Given the description of an element on the screen output the (x, y) to click on. 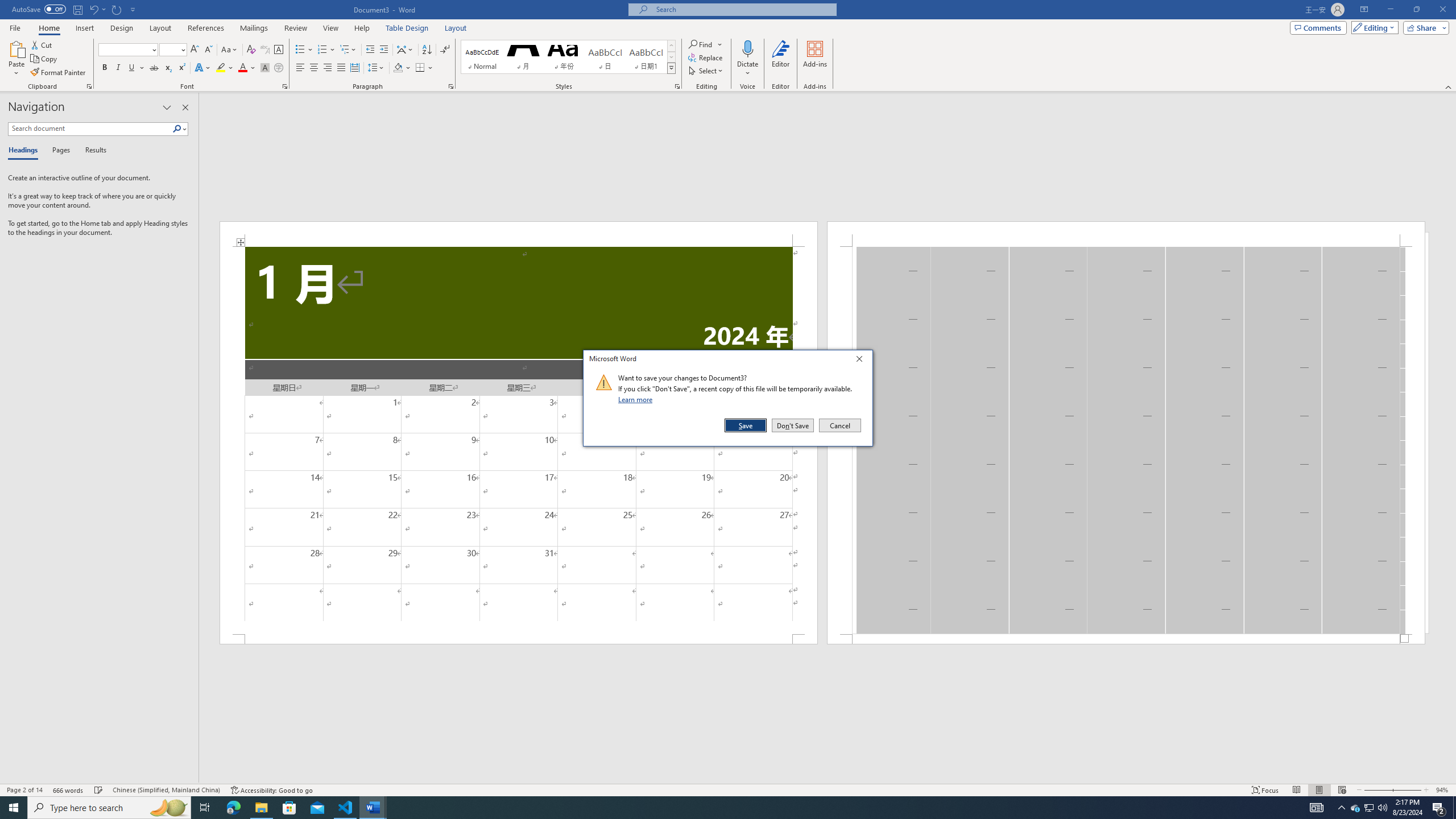
Enclose Characters... (278, 67)
Task View (204, 807)
Visual Studio Code - 1 running window (345, 807)
Copy (45, 58)
Undo Distribute Para (96, 9)
Center (313, 67)
Table Design (407, 28)
Text Highlight Color Yellow (220, 67)
Microsoft search (742, 9)
